Given the description of an element on the screen output the (x, y) to click on. 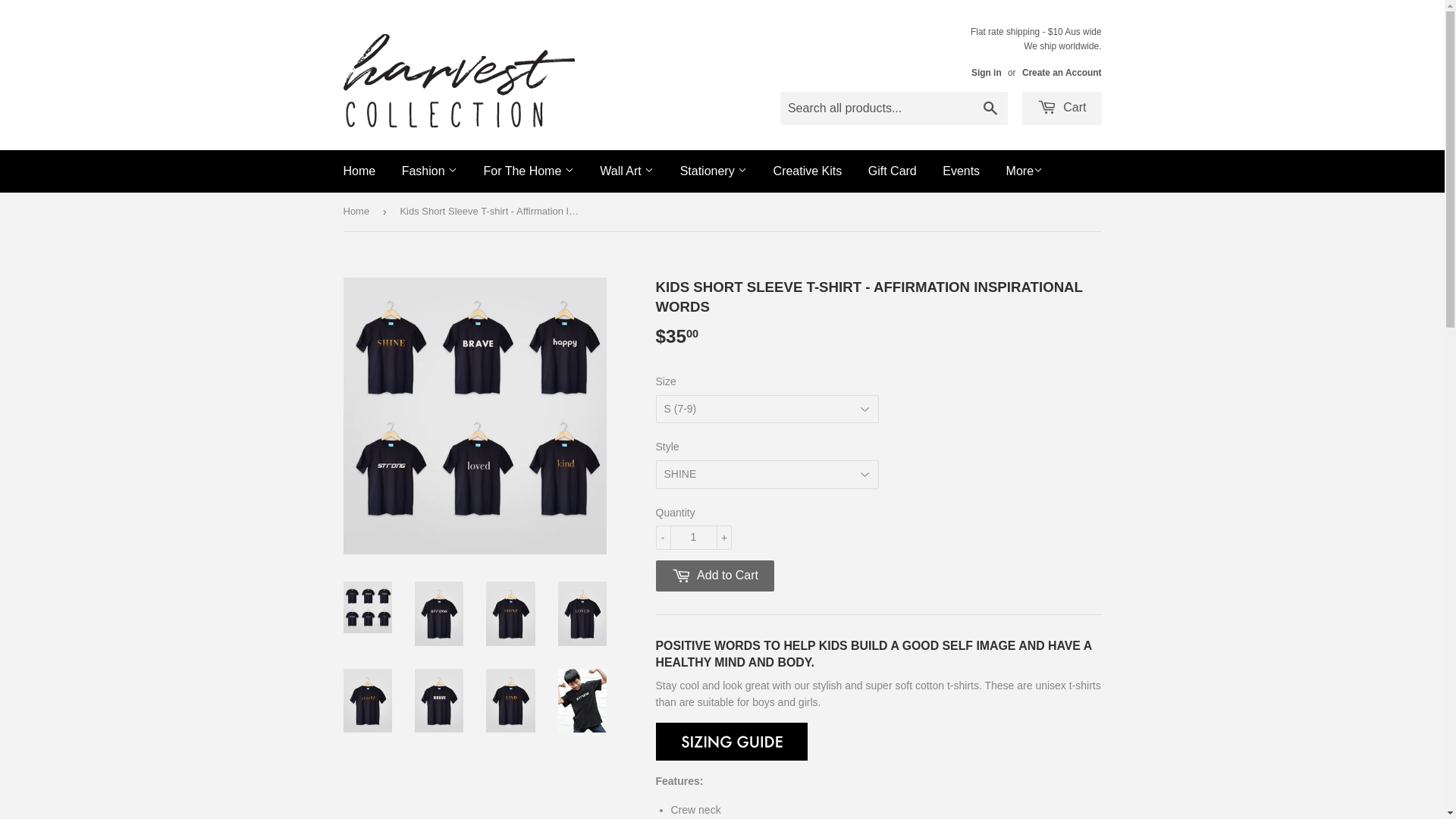
Add to Cart Element type: text (714, 575)
Sign in Element type: text (986, 72)
Stationery Element type: text (713, 171)
Home Element type: text (359, 171)
Gift Card Element type: text (892, 171)
Creative Kits Element type: text (807, 171)
Cart Element type: text (1061, 108)
Home Element type: text (358, 211)
sizing guide Element type: hover (730, 755)
For The Home Element type: text (527, 171)
Create an Account Element type: text (1061, 72)
Fashion Element type: text (429, 171)
Search Element type: text (990, 109)
Events Element type: text (961, 171)
Wall Art Element type: text (626, 171)
More Element type: text (1024, 171)
